Given the description of an element on the screen output the (x, y) to click on. 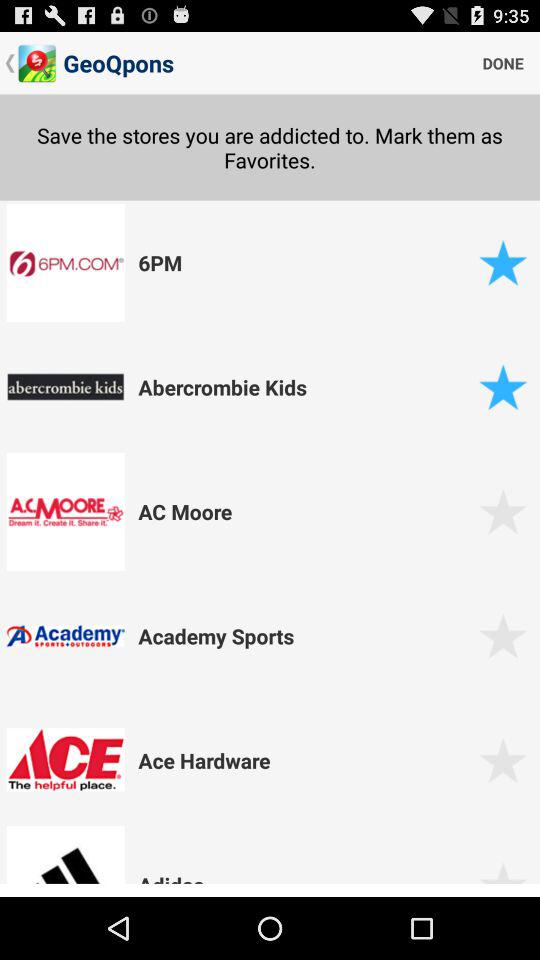
swipe until the ace hardware item (305, 760)
